Given the description of an element on the screen output the (x, y) to click on. 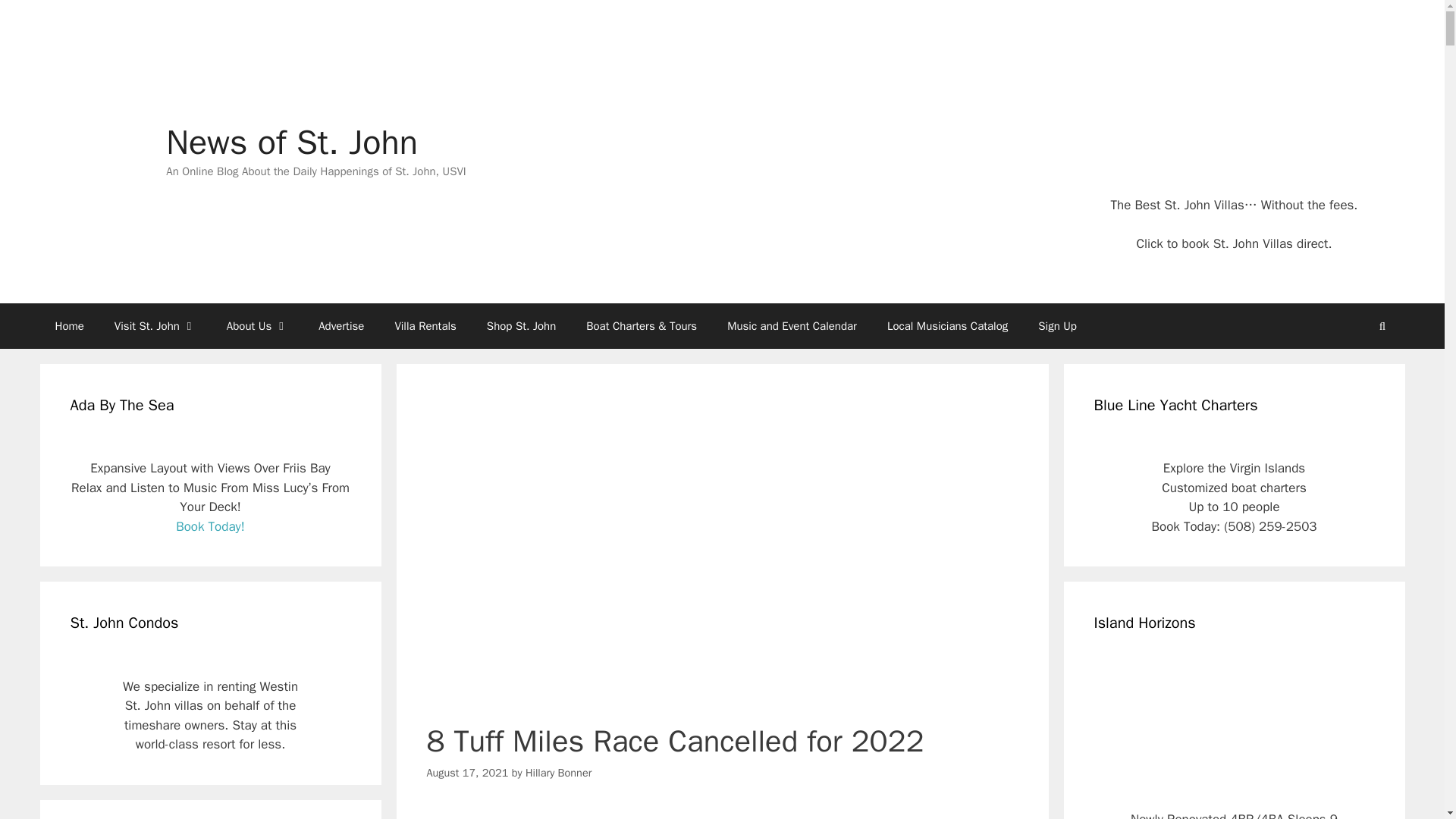
Click to book St. John Villas direct. (1233, 242)
Shop St. John (520, 325)
Music and Event Calendar (791, 325)
View all posts by Hillary Bonner (558, 772)
Home (69, 325)
9:26 am (467, 772)
Search (1382, 325)
Visit St. John (155, 325)
August 17, 2021 (467, 772)
Local Musicians Catalog (947, 325)
